Given the description of an element on the screen output the (x, y) to click on. 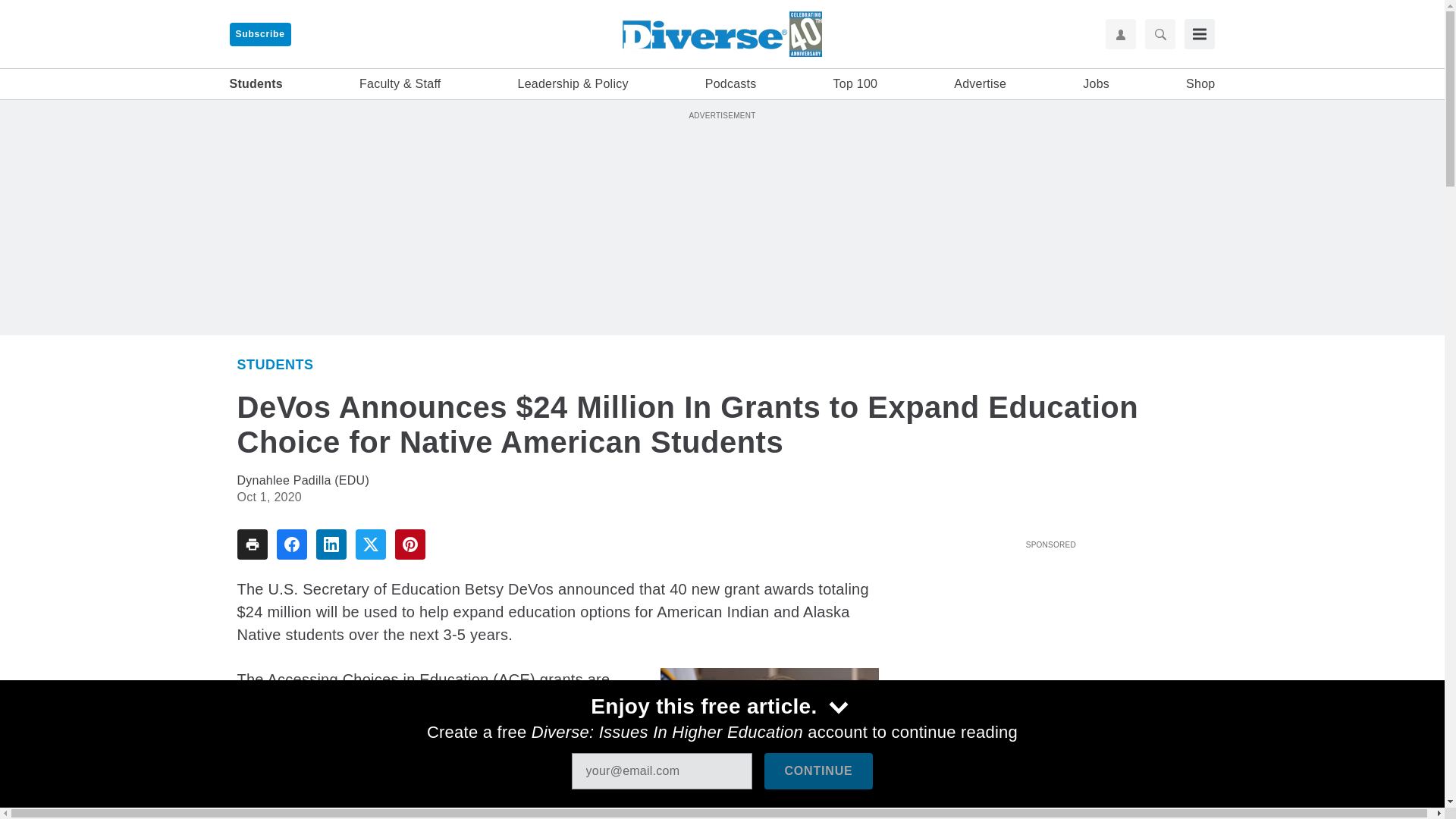
Subscribe (258, 33)
Share To facebook (290, 544)
Students (274, 364)
Share To twitter (370, 544)
Share To print (250, 544)
Advertise (979, 84)
Podcasts (730, 84)
Subscribe (258, 33)
Students (255, 84)
Share To pinterest (409, 544)
Share To linkedin (330, 544)
Shop (1200, 84)
Top 100 (854, 84)
Jobs (1096, 84)
